Given the description of an element on the screen output the (x, y) to click on. 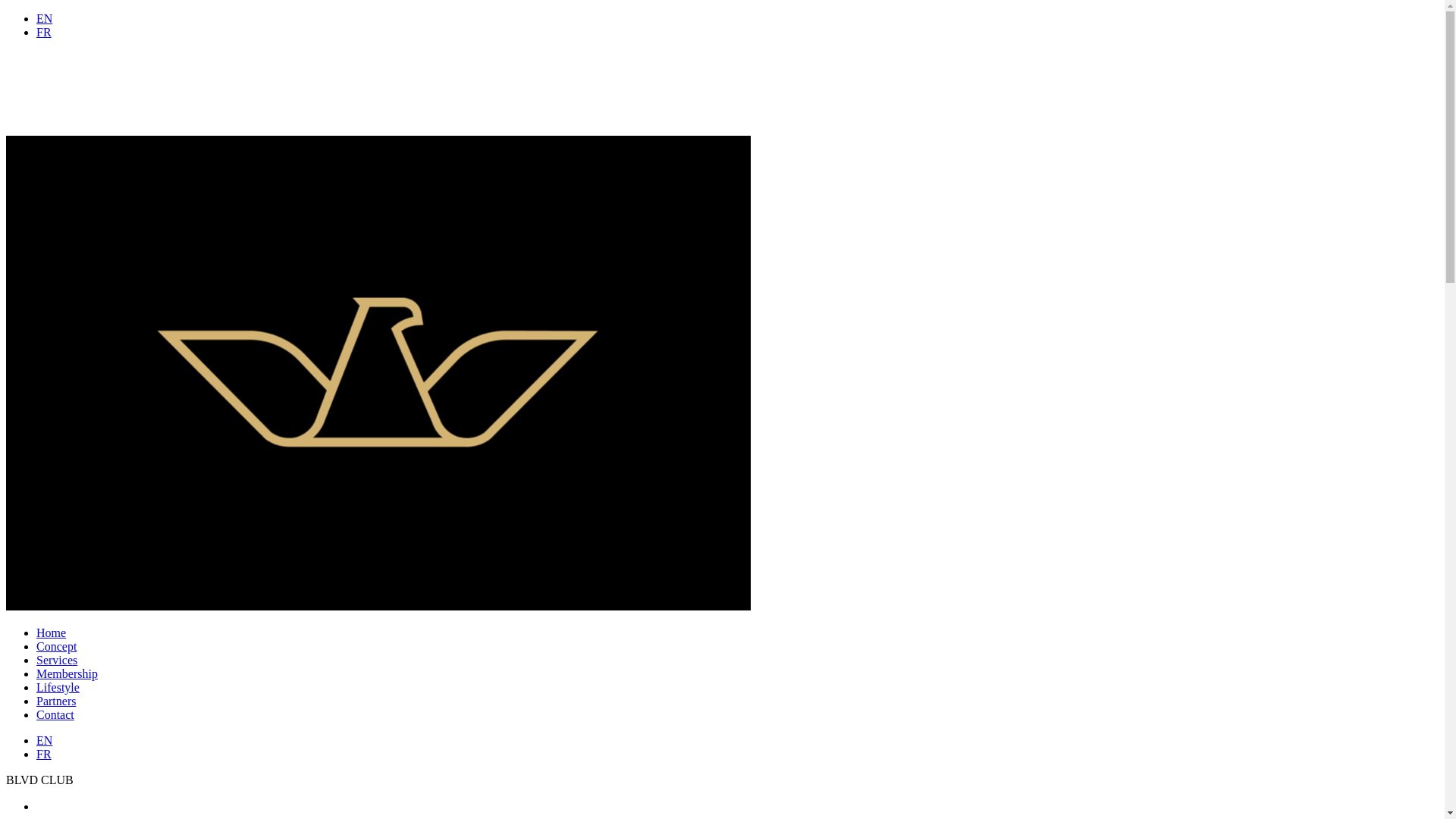
Concept Element type: text (56, 646)
Membership Element type: text (66, 673)
Lifestyle Element type: text (57, 686)
FR Element type: text (43, 753)
Instagram Element type: hover (41, 806)
Home Element type: text (50, 632)
EN Element type: text (44, 18)
Partners Element type: text (55, 700)
Contact Element type: text (55, 714)
Services Element type: text (56, 659)
FR Element type: text (43, 31)
EN Element type: text (44, 740)
